Given the description of an element on the screen output the (x, y) to click on. 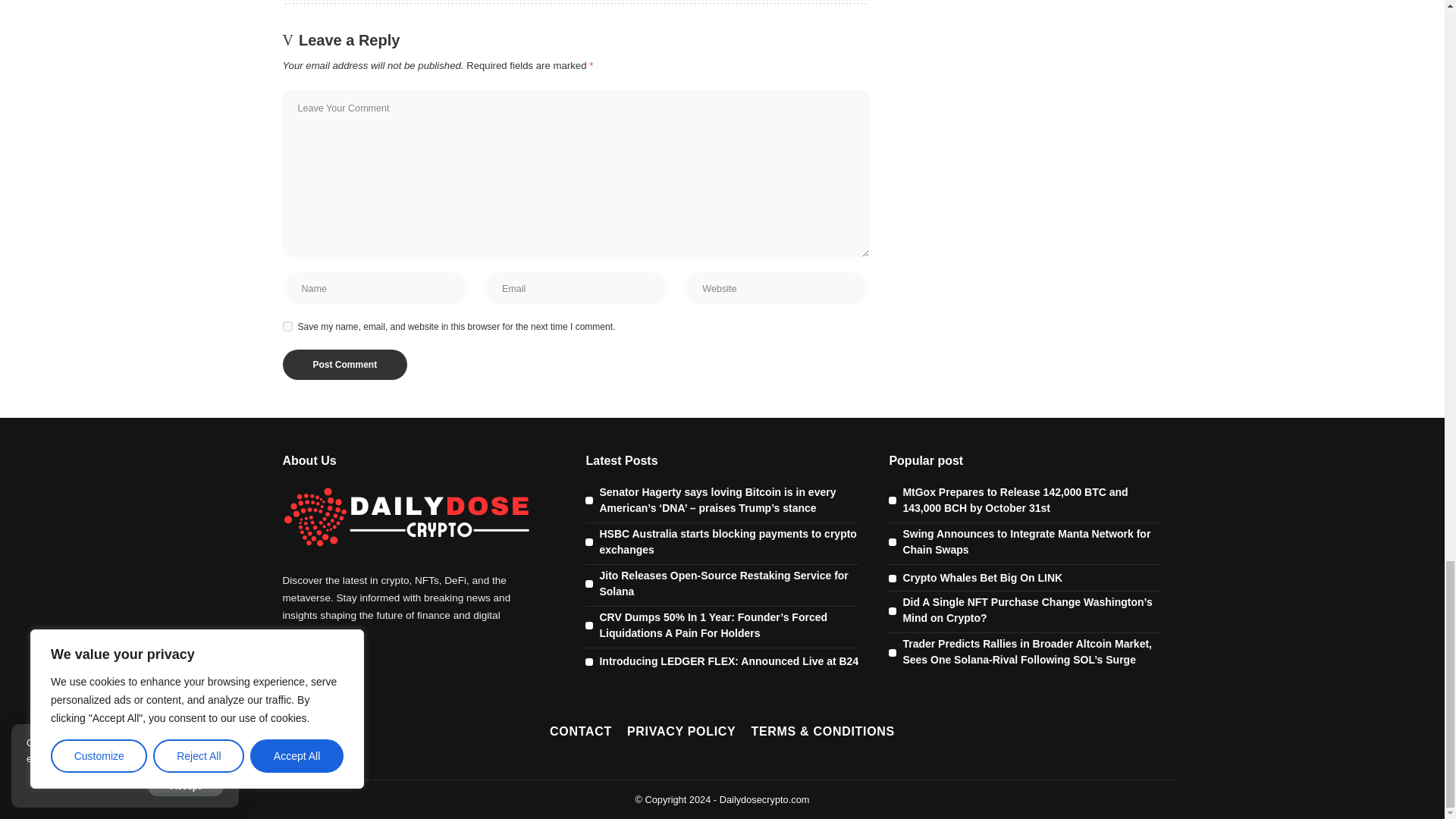
Post Comment (344, 364)
yes (287, 326)
